Given the description of an element on the screen output the (x, y) to click on. 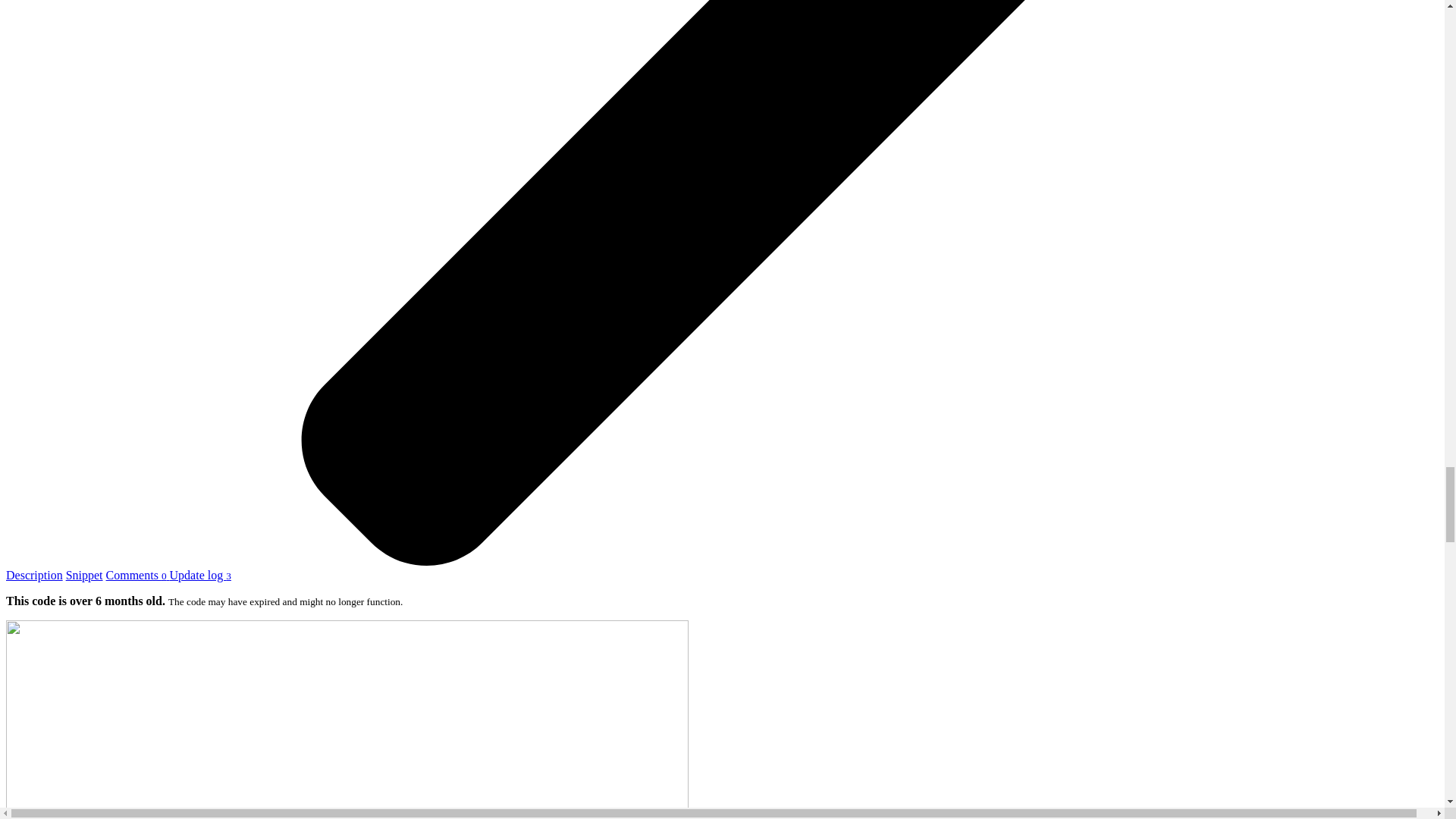
Snippet (84, 574)
Update log 3 (200, 574)
Description (33, 574)
Comments 0 (138, 574)
